Given the description of an element on the screen output the (x, y) to click on. 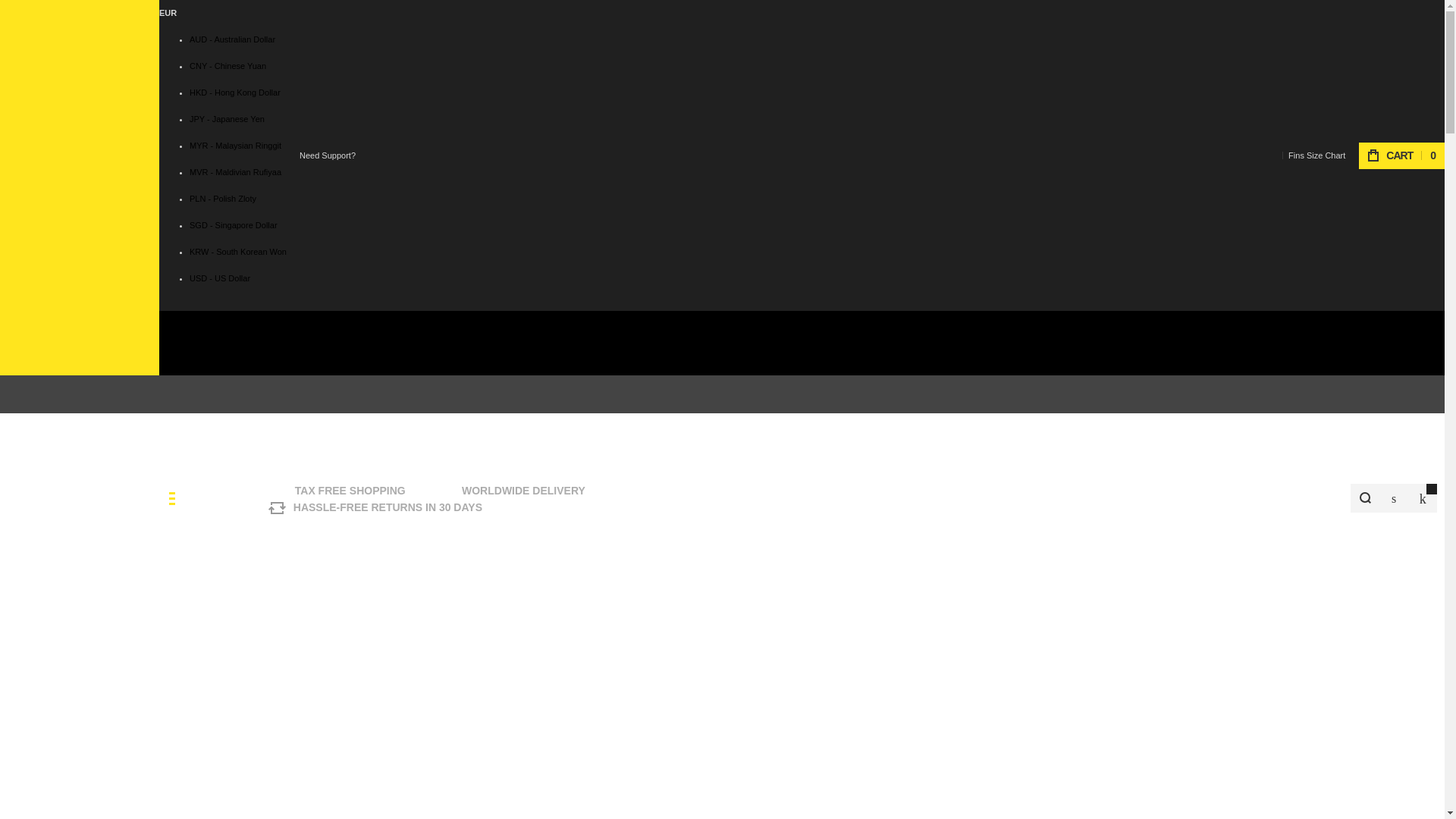
PLN - Polish Zloty (222, 198)
HKD - Hong Kong Dollar (235, 92)
JPY - Japanese Yen (226, 118)
MVR - Maldivian Rufiyaa (235, 171)
Need Support? (327, 155)
SGD - Singapore Dollar (233, 225)
Fins Size Chart (1316, 155)
CNY - Chinese Yuan (227, 65)
MY ACCOUNT (1392, 498)
MYR - Malaysian Ringgit (235, 144)
